Given the description of an element on the screen output the (x, y) to click on. 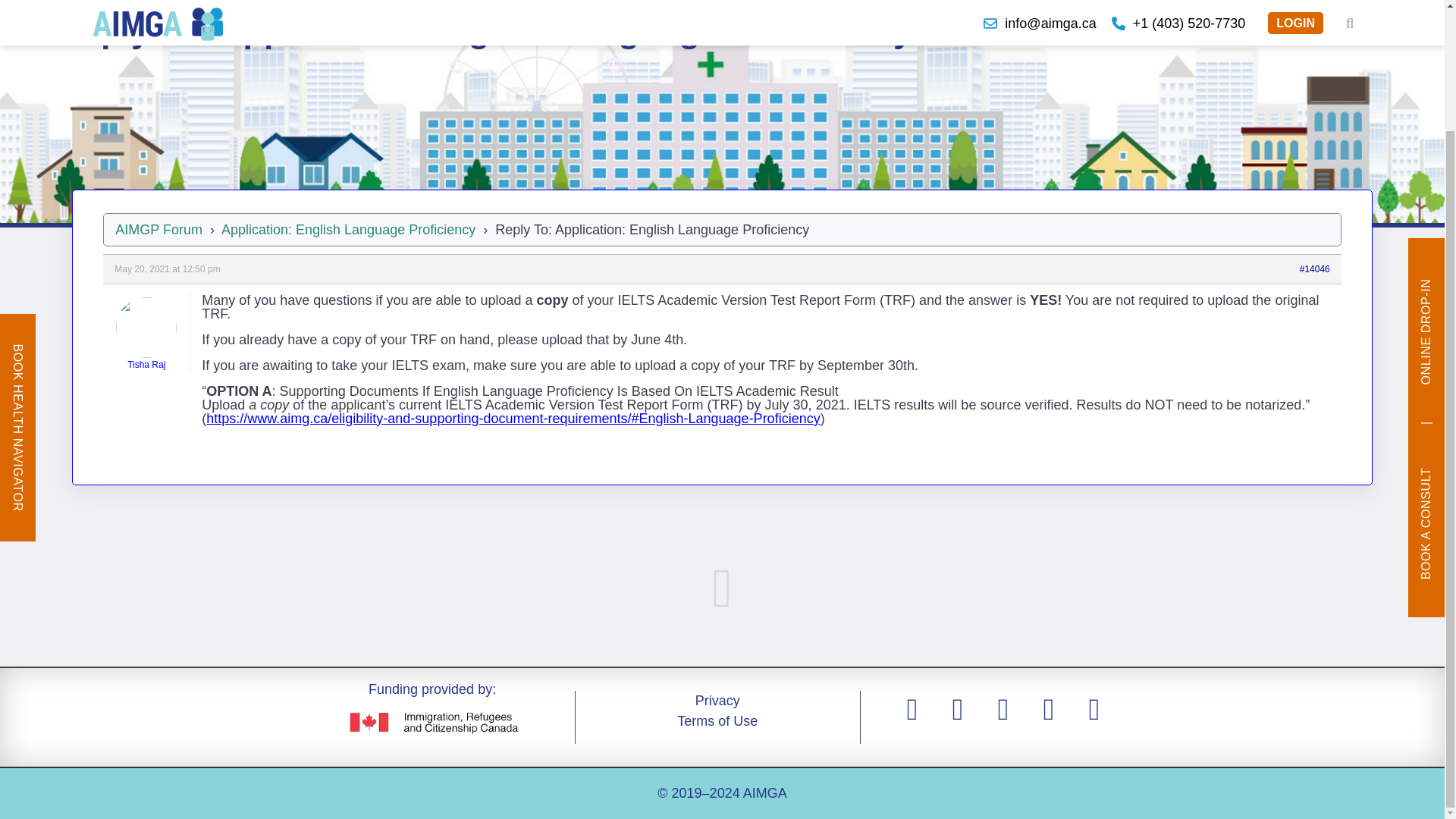
View Tisha Raj's profile (146, 334)
